Given the description of an element on the screen output the (x, y) to click on. 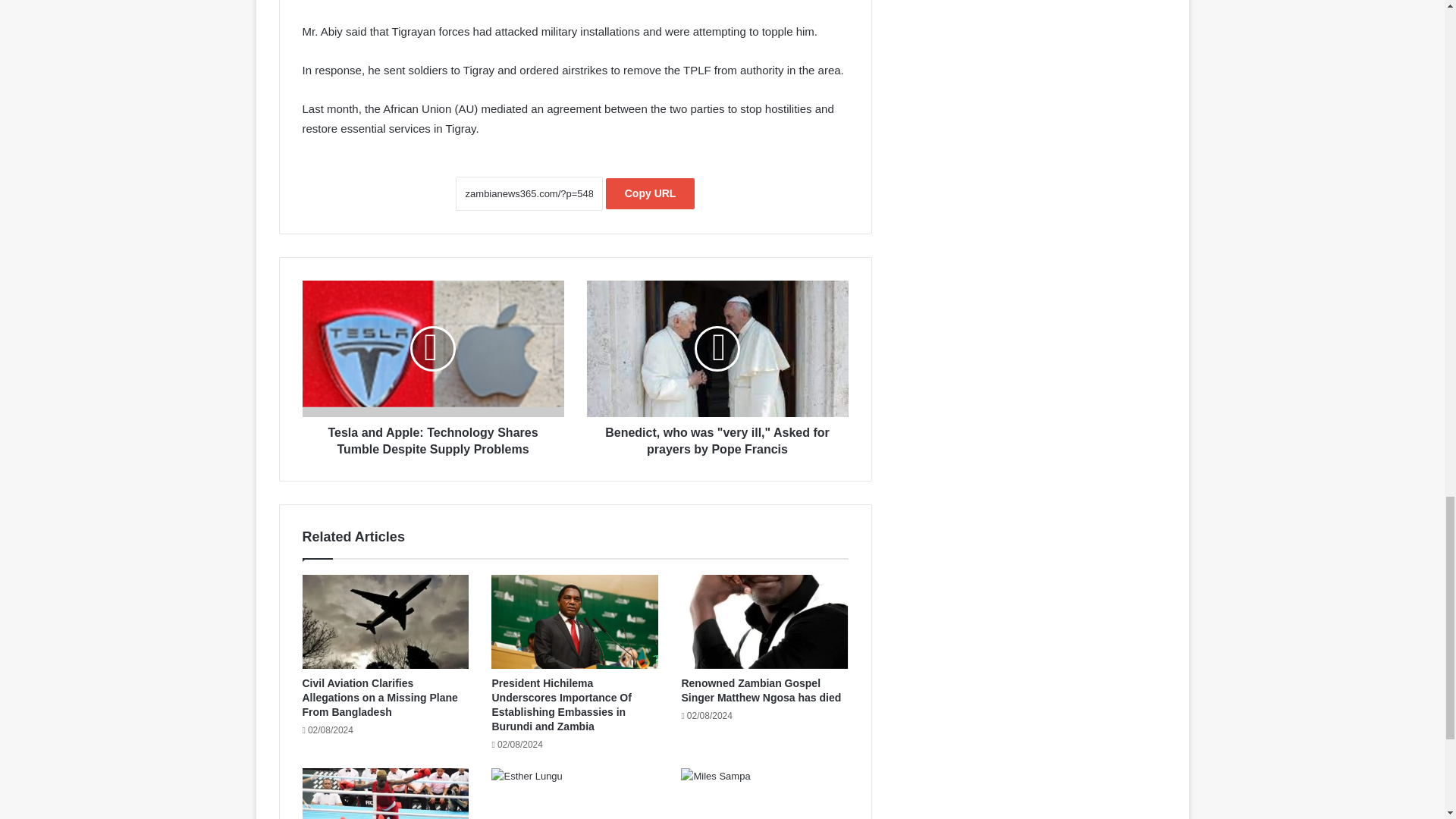
Copy URL (650, 193)
Renowned Zambian Gospel Singer Matthew Ngosa has died (761, 690)
